Given the description of an element on the screen output the (x, y) to click on. 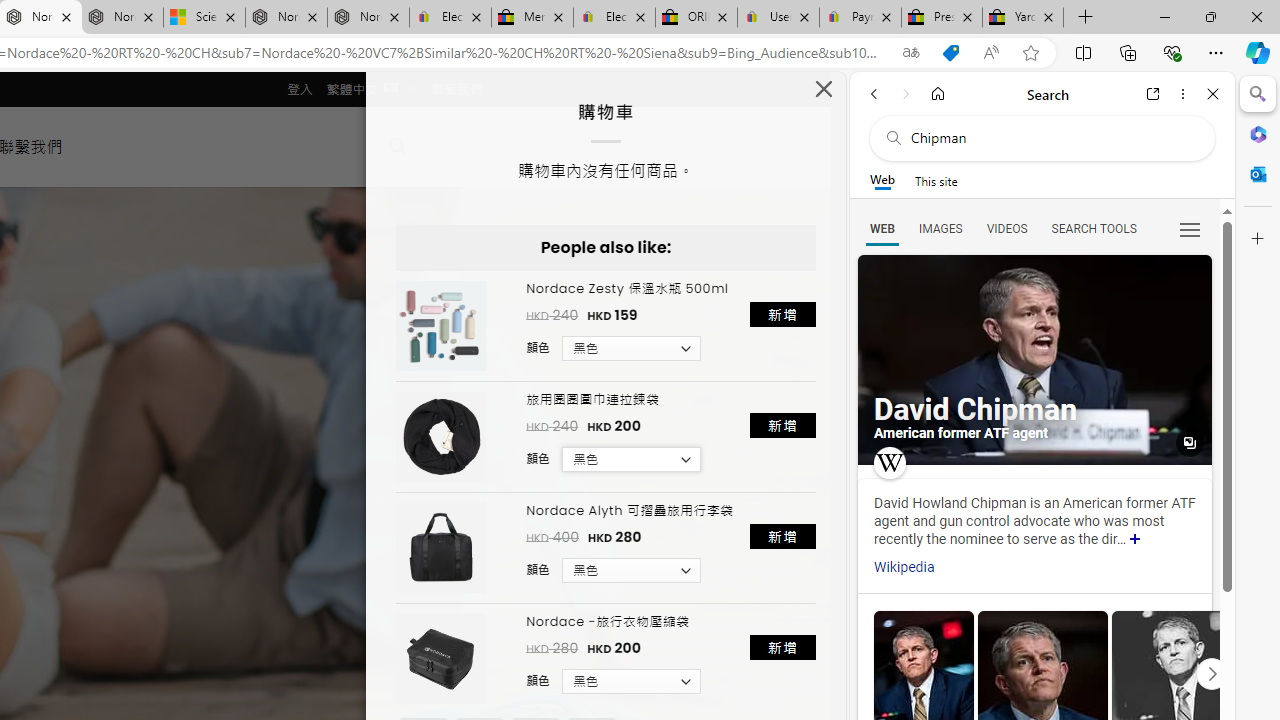
Read aloud this page (Ctrl+Shift+U) (991, 53)
Close tab (1048, 16)
More options (1182, 93)
Search Filter, Search Tools (1093, 228)
Restore (1210, 16)
Payments Terms of Use | eBay.com (860, 17)
Electronics, Cars, Fashion, Collectibles & More | eBay (614, 17)
Preferences (1189, 228)
Minimize (1164, 16)
VIDEOS (1006, 228)
Forward (906, 93)
